Given the description of an element on the screen output the (x, y) to click on. 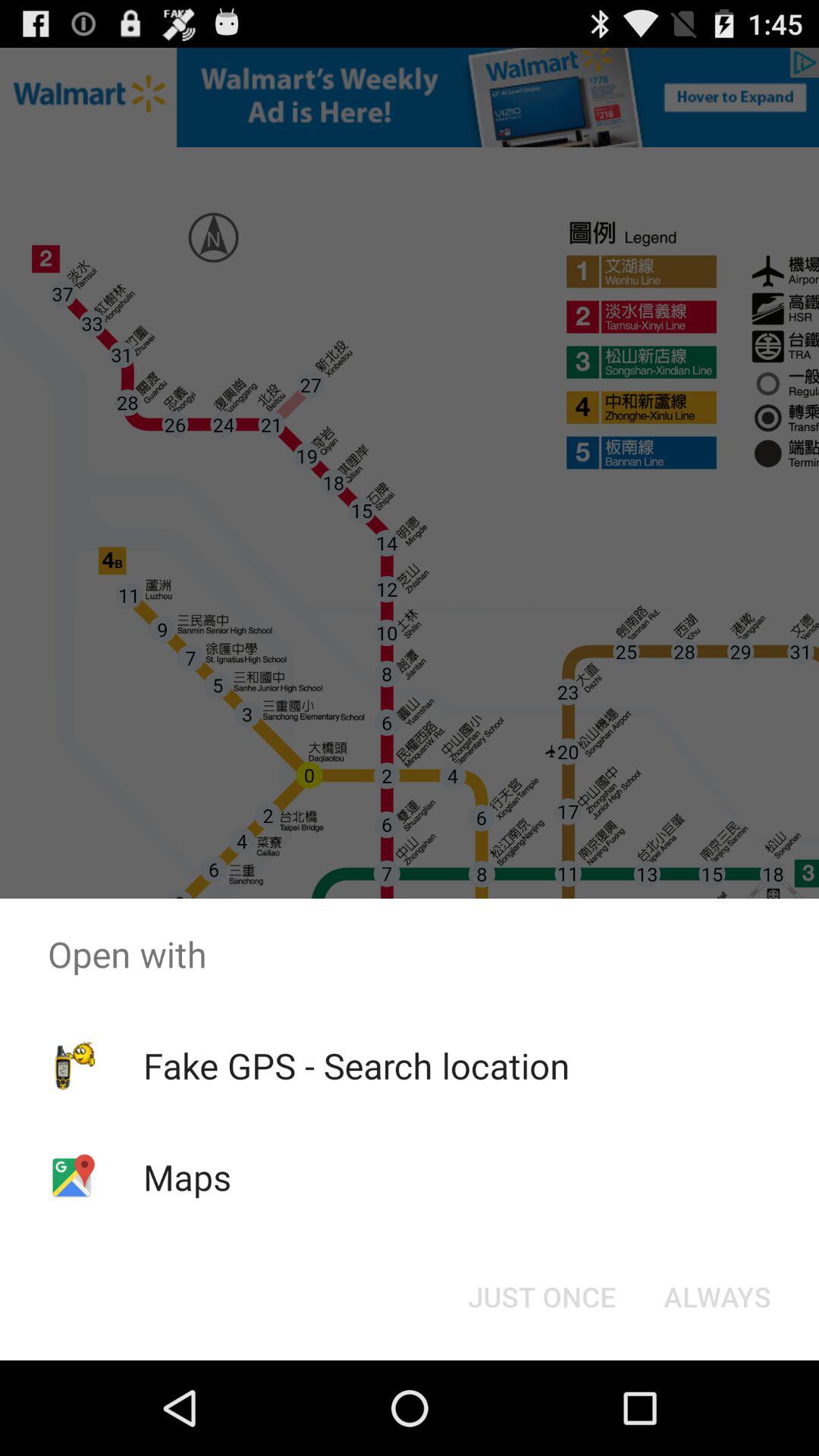
scroll to always (717, 1296)
